Given the description of an element on the screen output the (x, y) to click on. 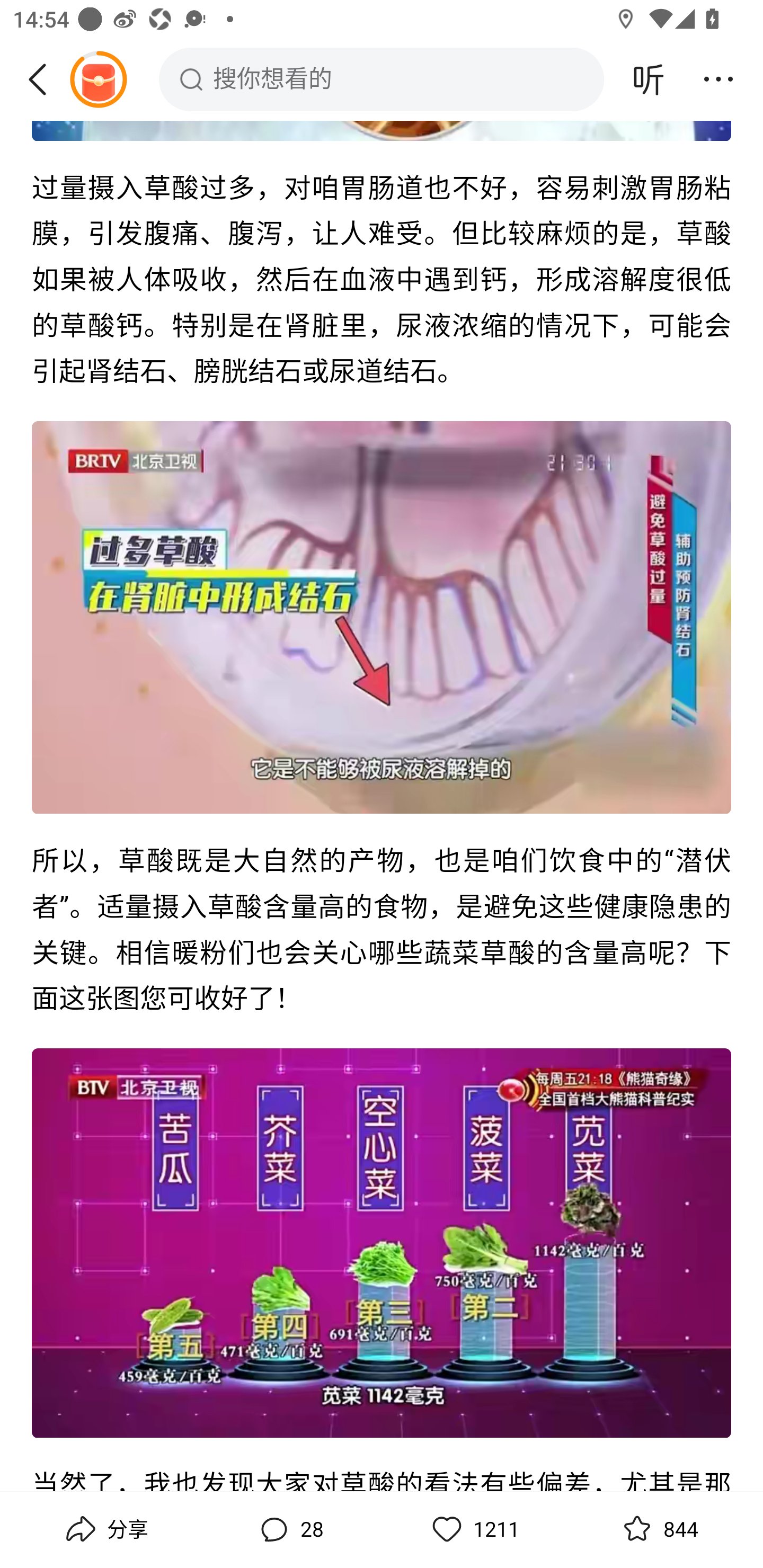
返回 (44, 78)
听头条 (648, 78)
更多操作 (718, 78)
搜你想看的 搜索框，搜你想看的 (381, 79)
阅读赚金币 (98, 79)
图片，点击识别内容 (381, 618)
图片，点击识别内容 (381, 1243)
分享 (104, 1529)
评论,28 28 (288, 1529)
收藏,844 844 (658, 1529)
